Given the description of an element on the screen output the (x, y) to click on. 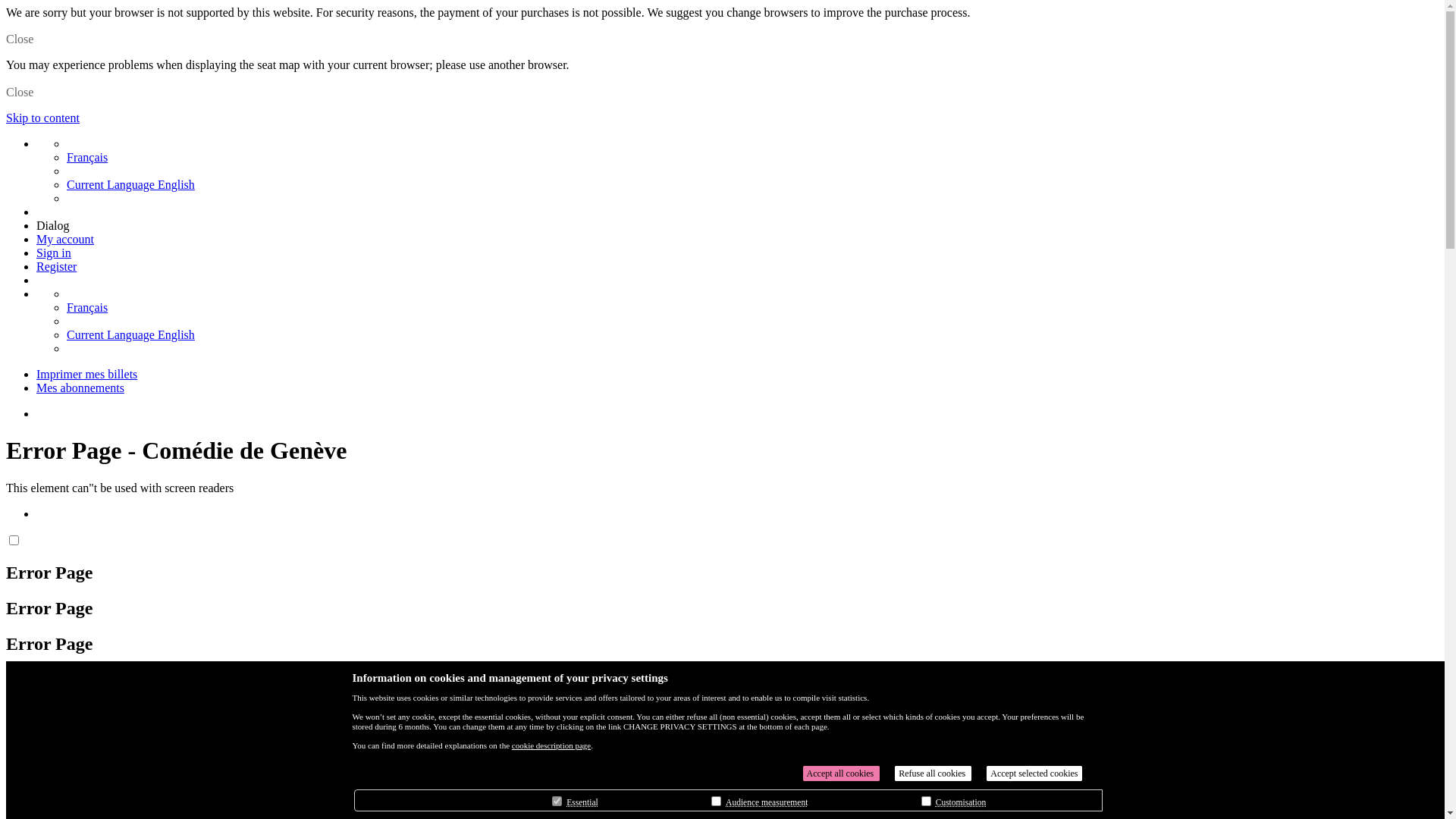
cookie description page Element type: text (550, 744)
Skip to content Element type: text (42, 117)
Mes abonnements Element type: text (80, 387)
Close Element type: text (19, 92)
Accept all cookies Element type: text (841, 773)
Accept selected cookies Element type: text (1033, 773)
Close Element type: text (19, 39)
Sign in Element type: text (53, 252)
Register Element type: text (56, 266)
My account Element type: text (65, 238)
Current Language English Element type: text (130, 184)
Current Language English Element type: text (130, 334)
Continue shoppingContinue shopping Element type: text (98, 727)
Imprimer mes billets Element type: text (86, 373)
Refuse all cookies Element type: text (932, 773)
